Given the description of an element on the screen output the (x, y) to click on. 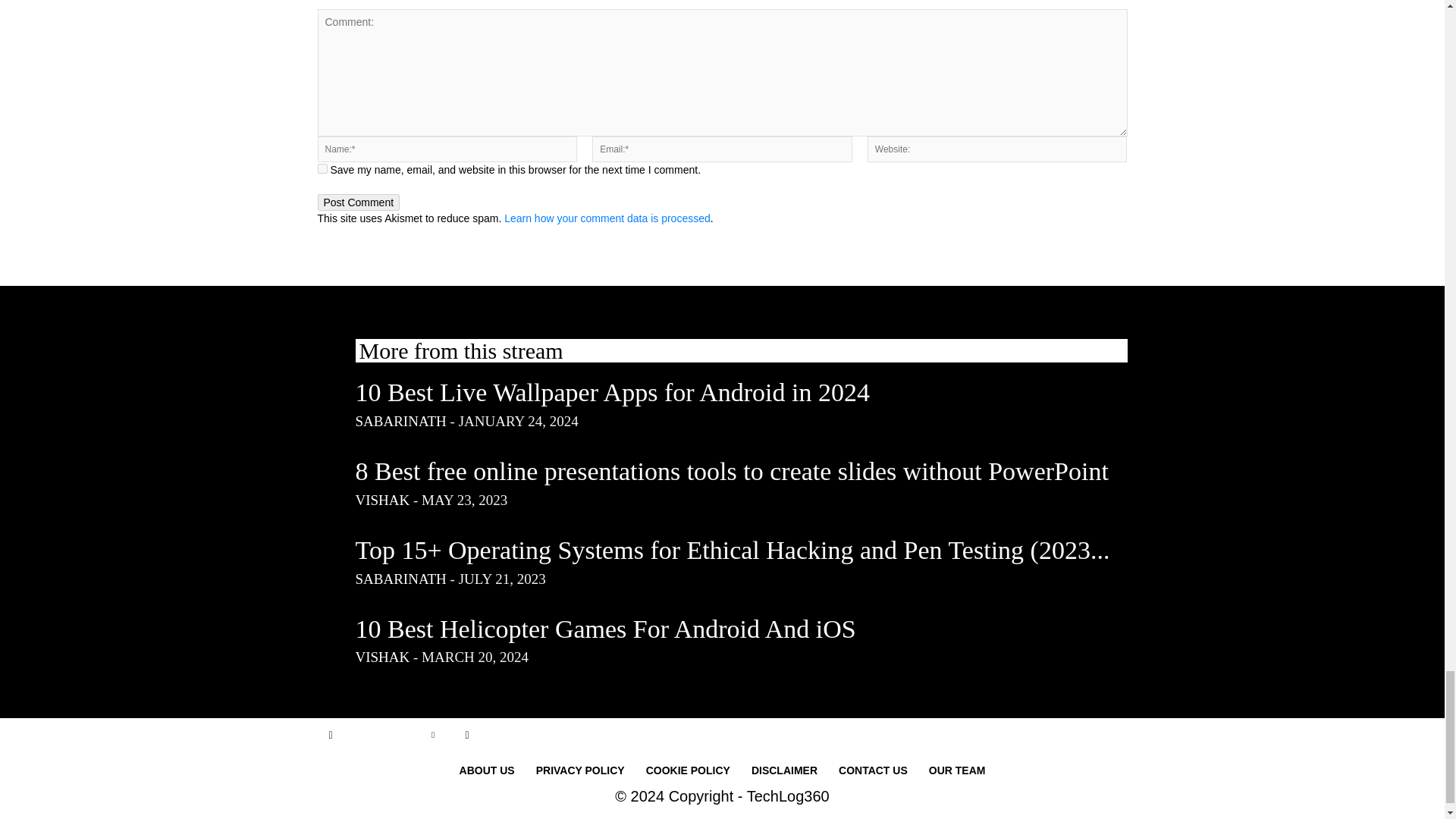
yes (321, 168)
Post Comment (357, 202)
